Given the description of an element on the screen output the (x, y) to click on. 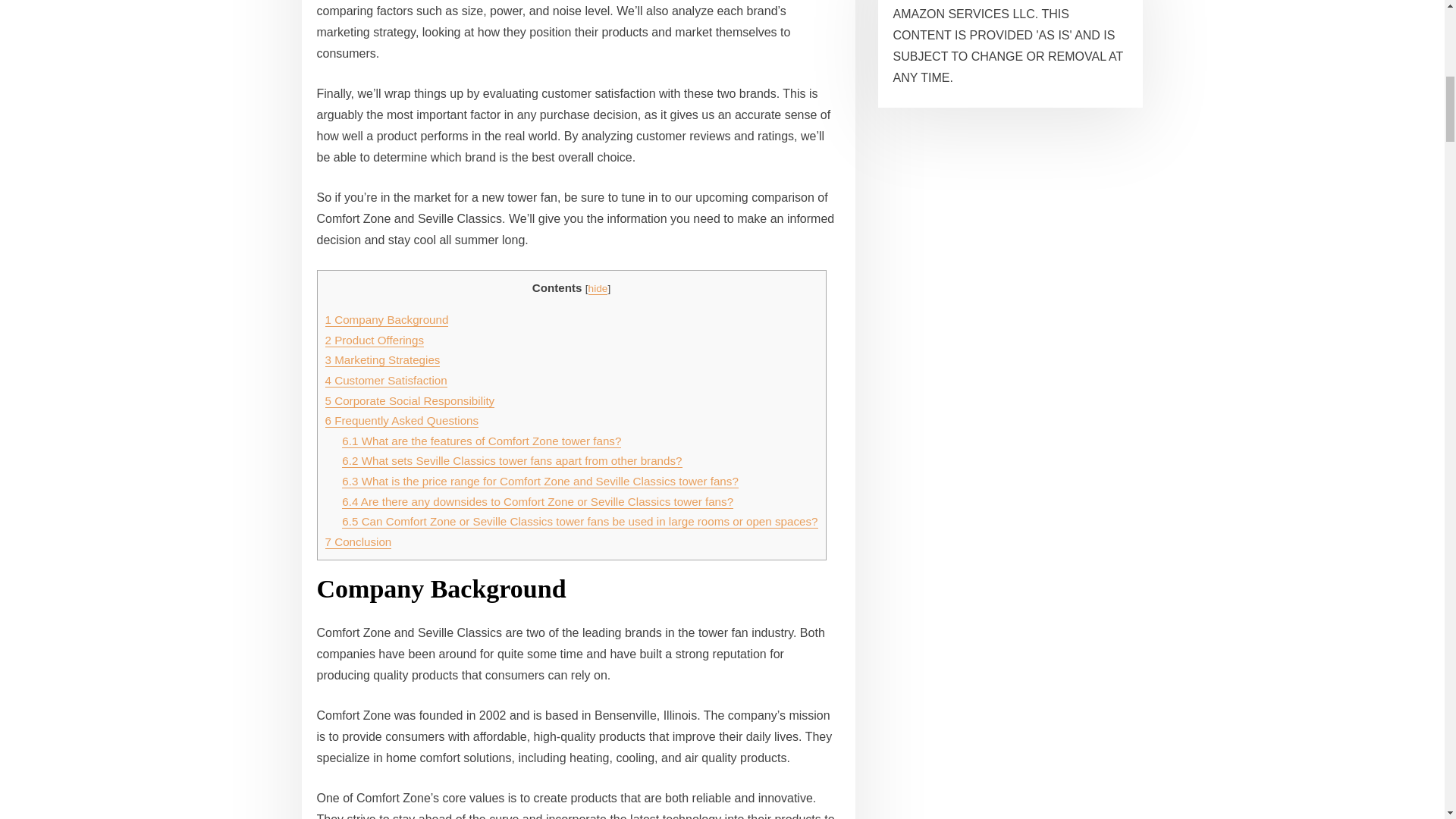
2 Product Offerings (373, 339)
5 Corporate Social Responsibility (409, 400)
1 Company Background (386, 318)
6 Frequently Asked Questions (401, 420)
3 Marketing Strategies (381, 359)
7 Conclusion (357, 541)
hide (598, 288)
